Given the description of an element on the screen output the (x, y) to click on. 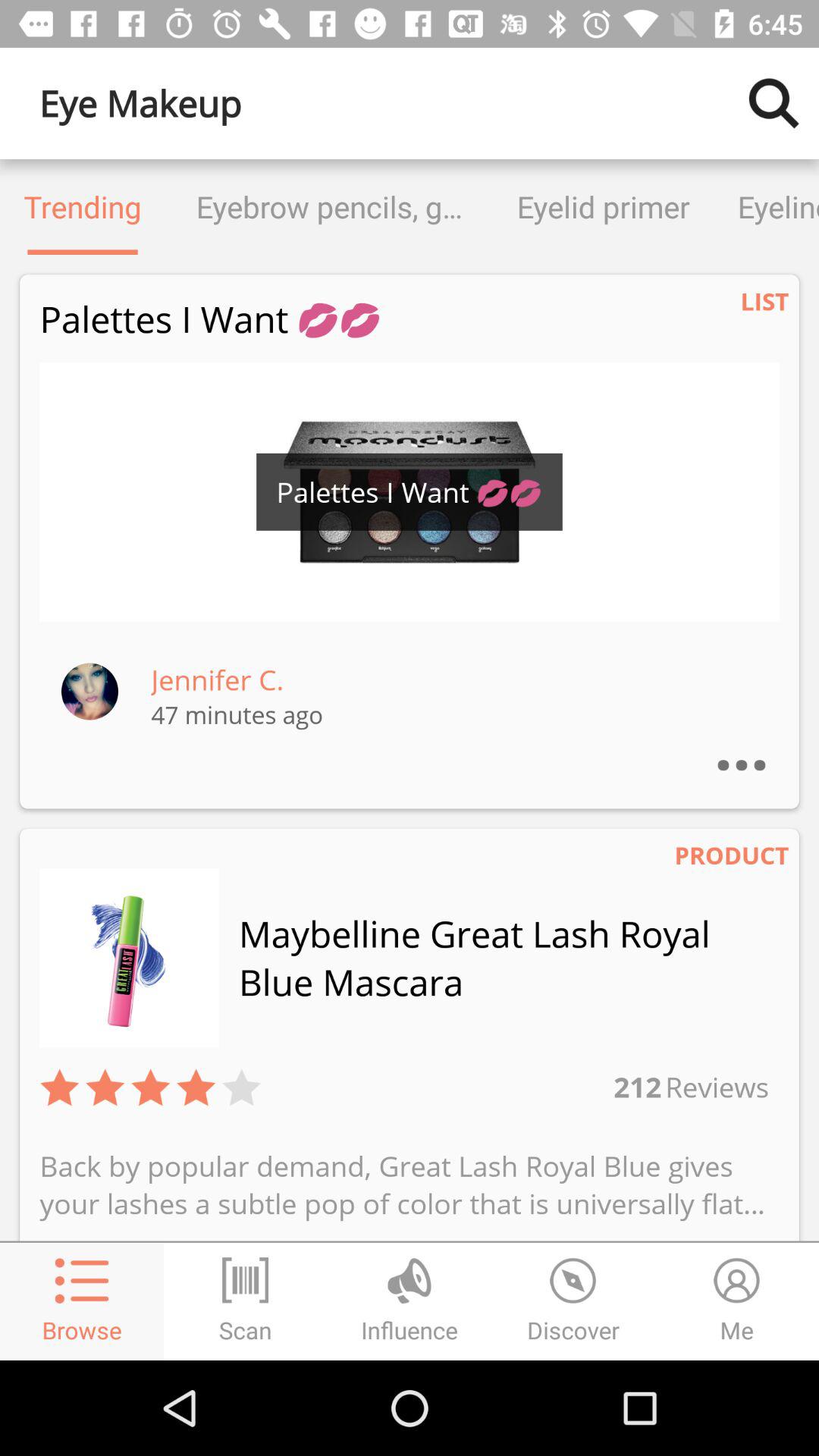
jump to the trending icon (82, 206)
